Given the description of an element on the screen output the (x, y) to click on. 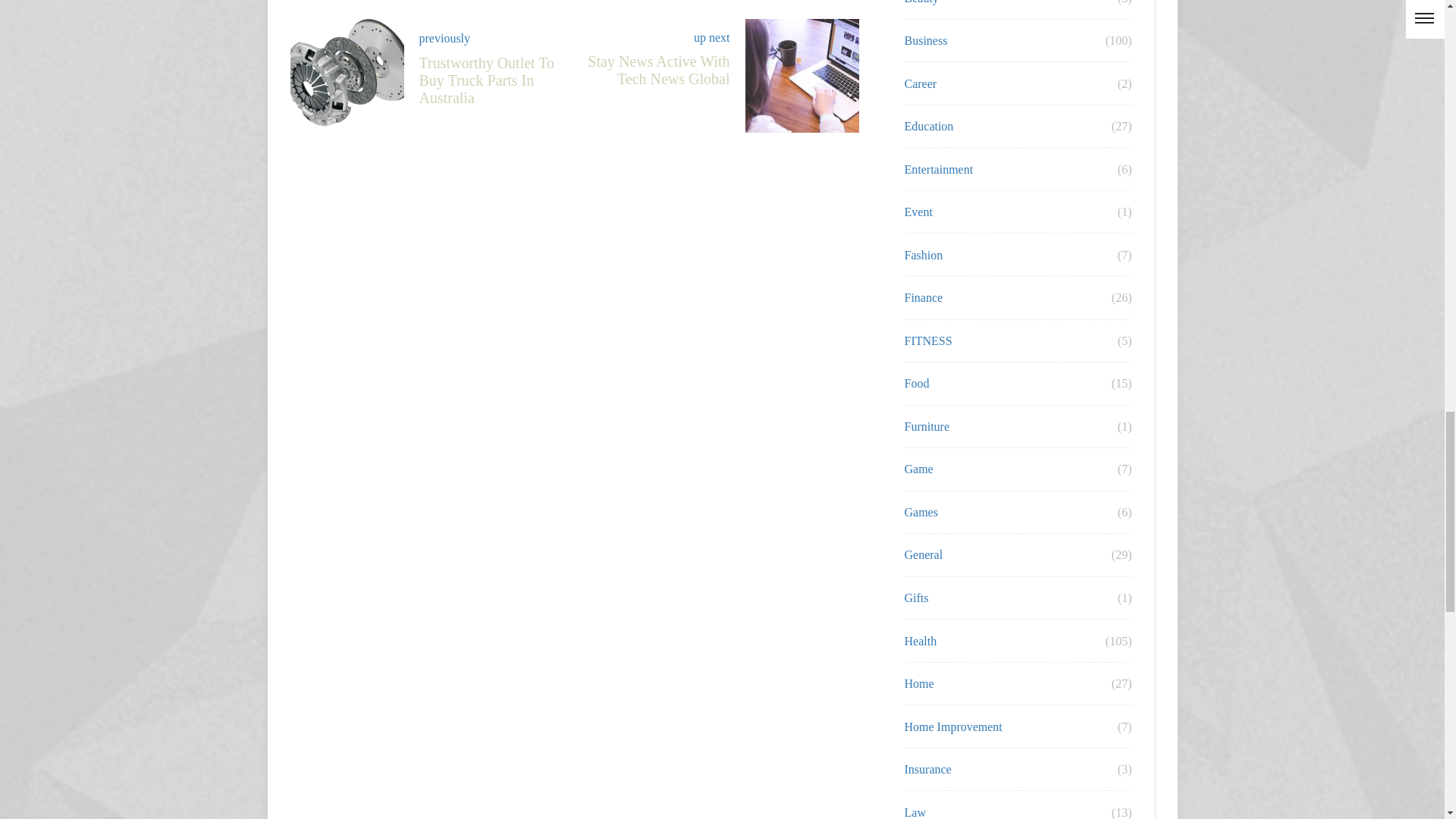
Trustworthy Outlet to Buy Truck Parts in Australia (722, 47)
Stay news active with Tech News Global (425, 57)
